Given the description of an element on the screen output the (x, y) to click on. 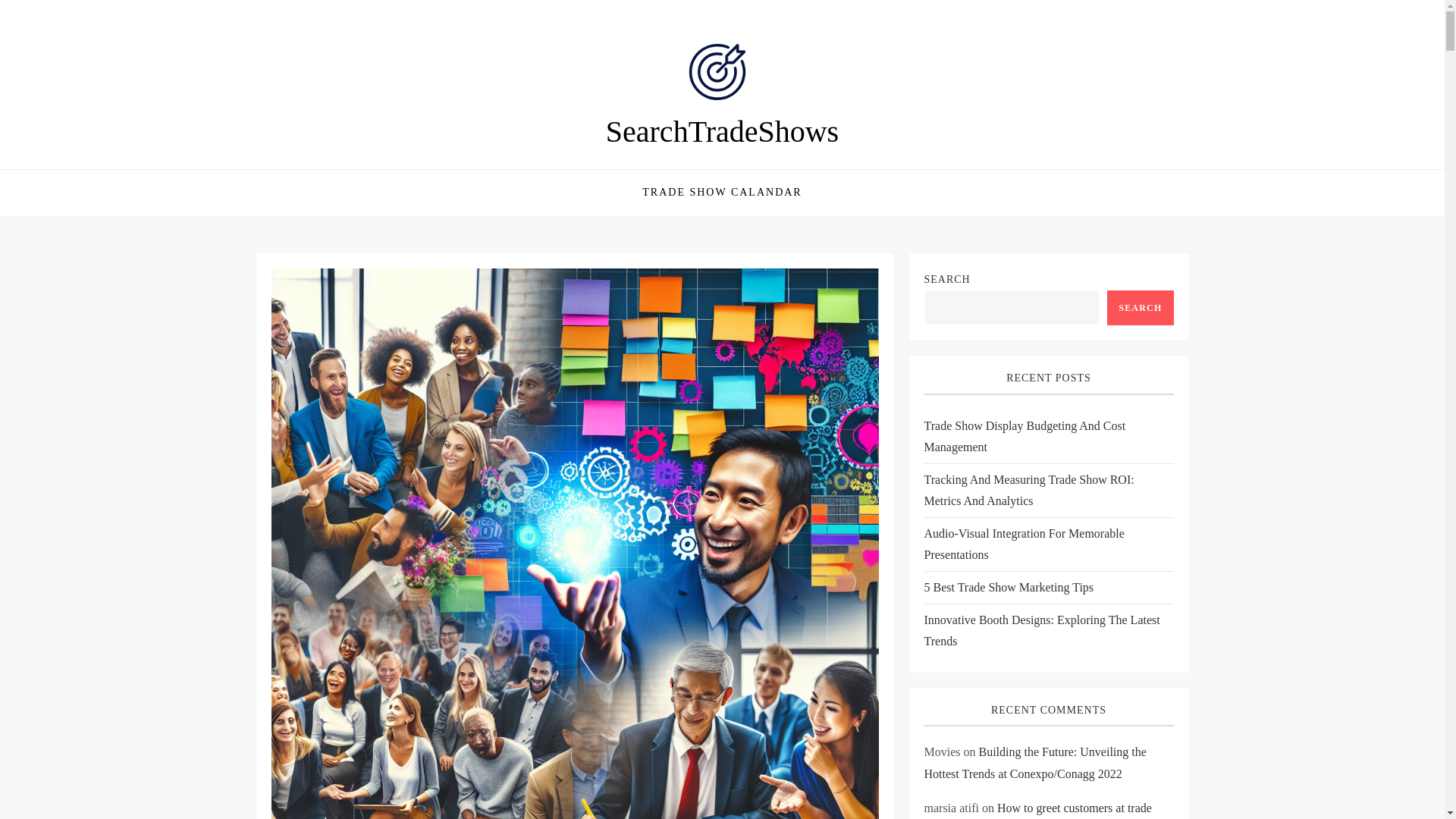
SearchTradeShows (721, 131)
TRADE SHOW CALANDAR (721, 192)
Tracking And Measuring Trade Show ROI: Metrics And Analytics (1048, 490)
Innovative Booth Designs: Exploring The Latest Trends (1048, 630)
Trade Show Display Budgeting And Cost Management (1048, 436)
5 Best Trade Show Marketing Tips (1008, 587)
SEARCH (1139, 307)
How to greet customers at trade shows (1037, 810)
Audio-Visual Integration For Memorable Presentations (1048, 544)
